Given the description of an element on the screen output the (x, y) to click on. 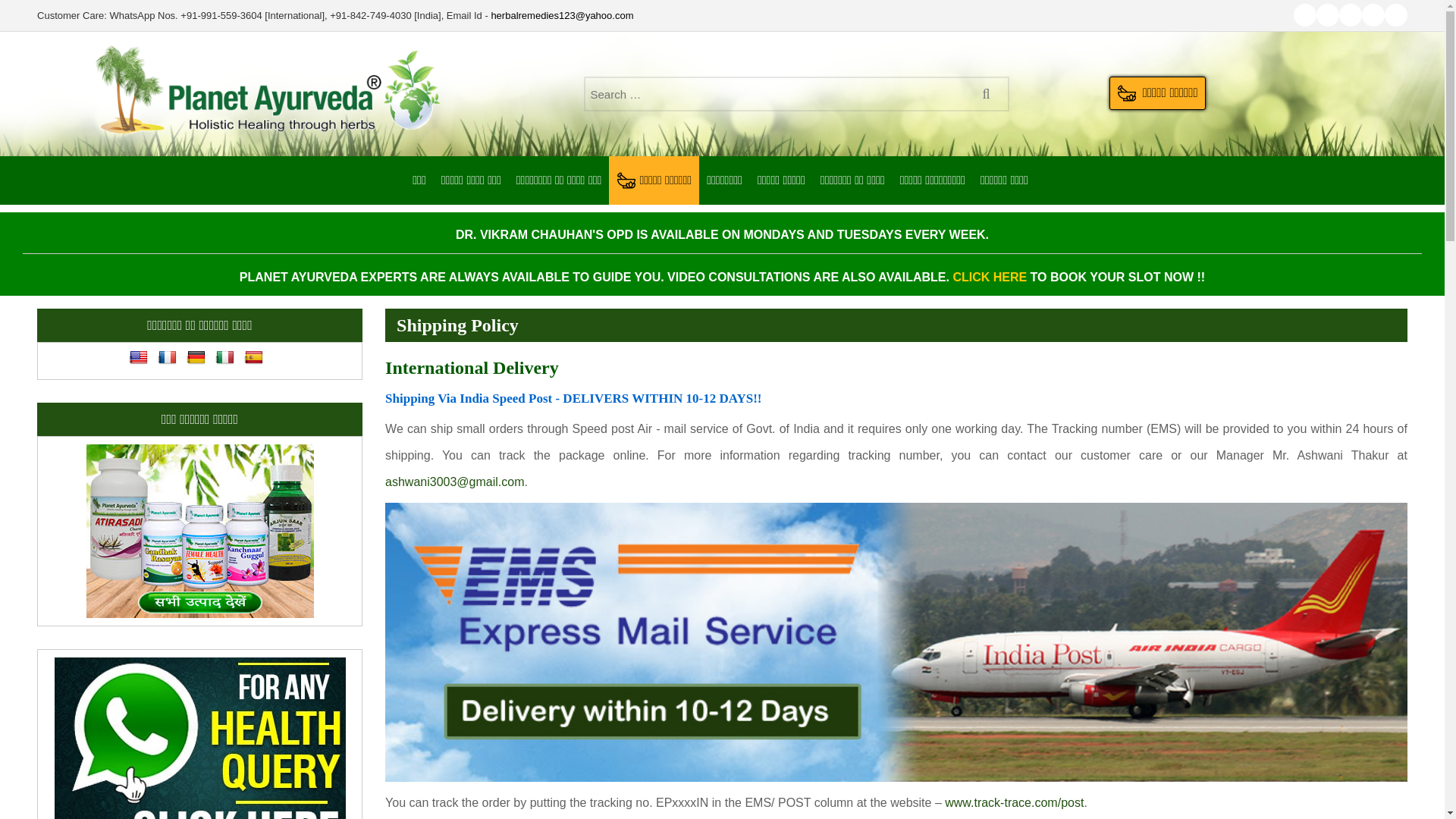
Spanish (253, 357)
CLICK HERE (989, 277)
English (138, 357)
Twitter (1350, 15)
Facebook (1327, 15)
Italian (224, 357)
instagram (1372, 15)
German (196, 357)
Youtube (1305, 15)
